Given the description of an element on the screen output the (x, y) to click on. 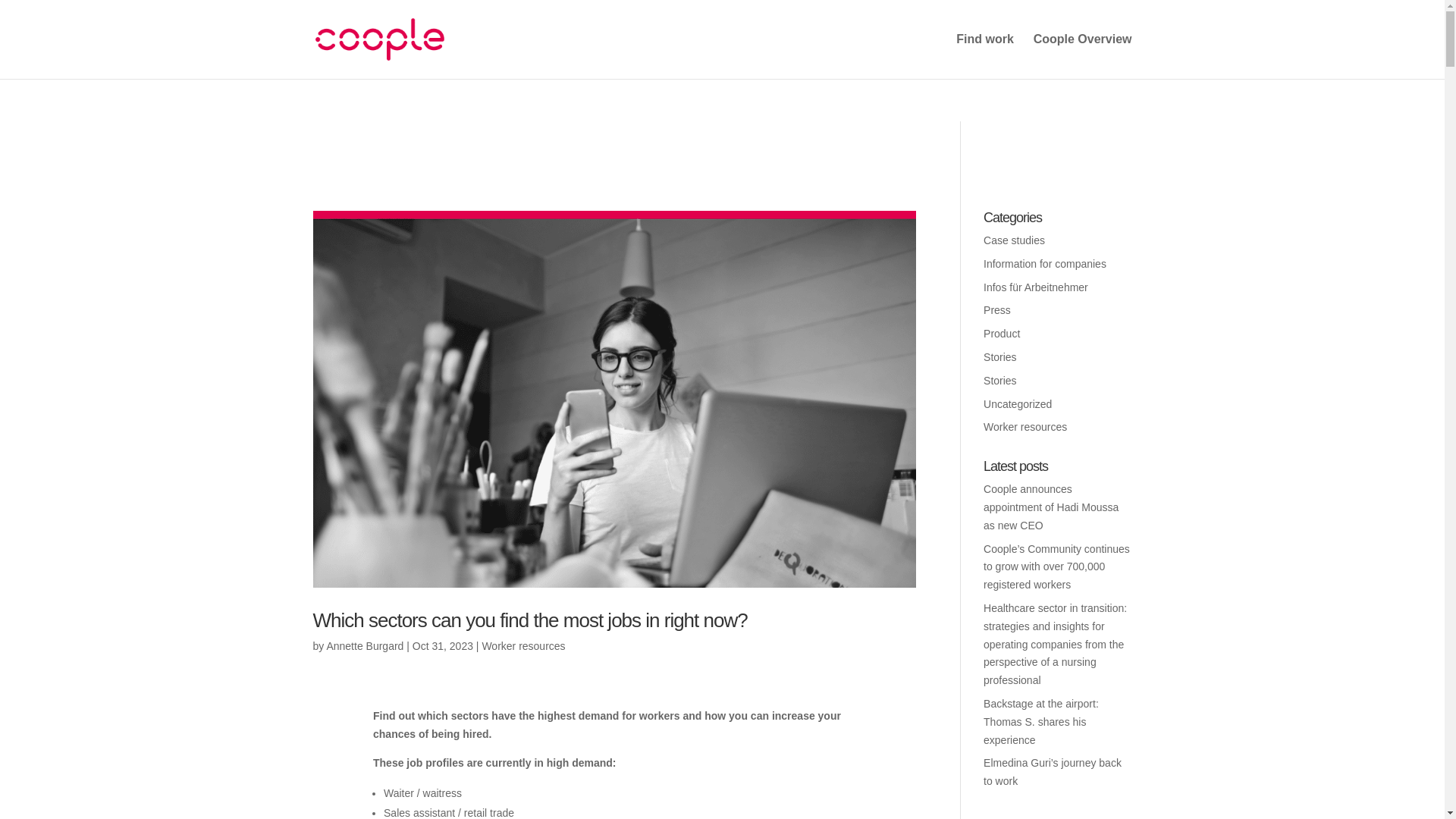
Annette Burgard (364, 645)
Find work (984, 56)
Worker resources (522, 645)
Coople Overview (1082, 56)
Posts by Annette Burgard (364, 645)
Which sectors can you find the most jobs in right now? (529, 620)
